Given the description of an element on the screen output the (x, y) to click on. 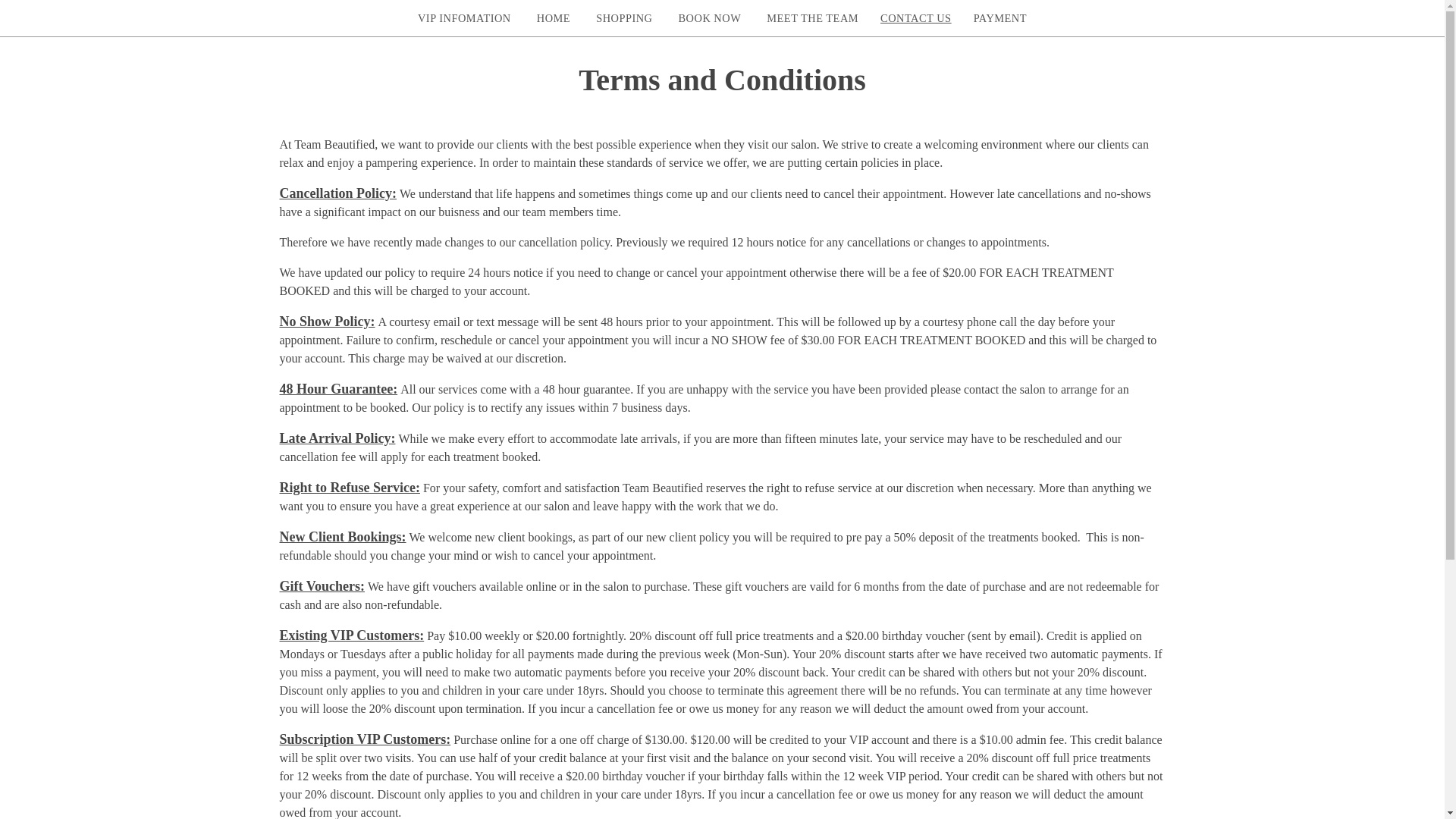
SHOPPING (623, 18)
HOME (553, 18)
MEET THE TEAM (812, 18)
VIP INFOMATION (464, 18)
PAYMENT (999, 18)
CONTACT US (915, 18)
BOOK NOW (708, 18)
